Given the description of an element on the screen output the (x, y) to click on. 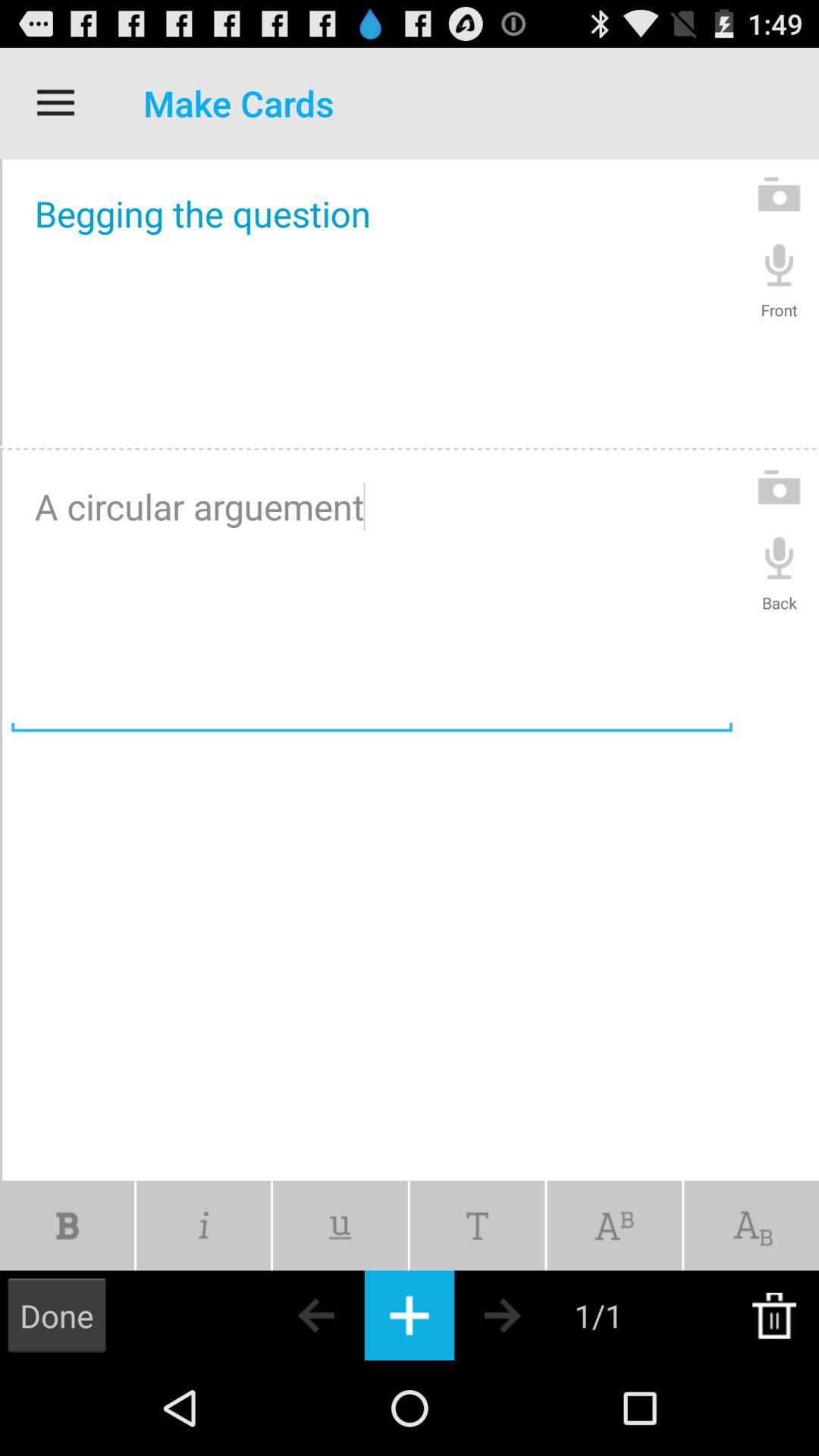
use microphone (779, 264)
